Given the description of an element on the screen output the (x, y) to click on. 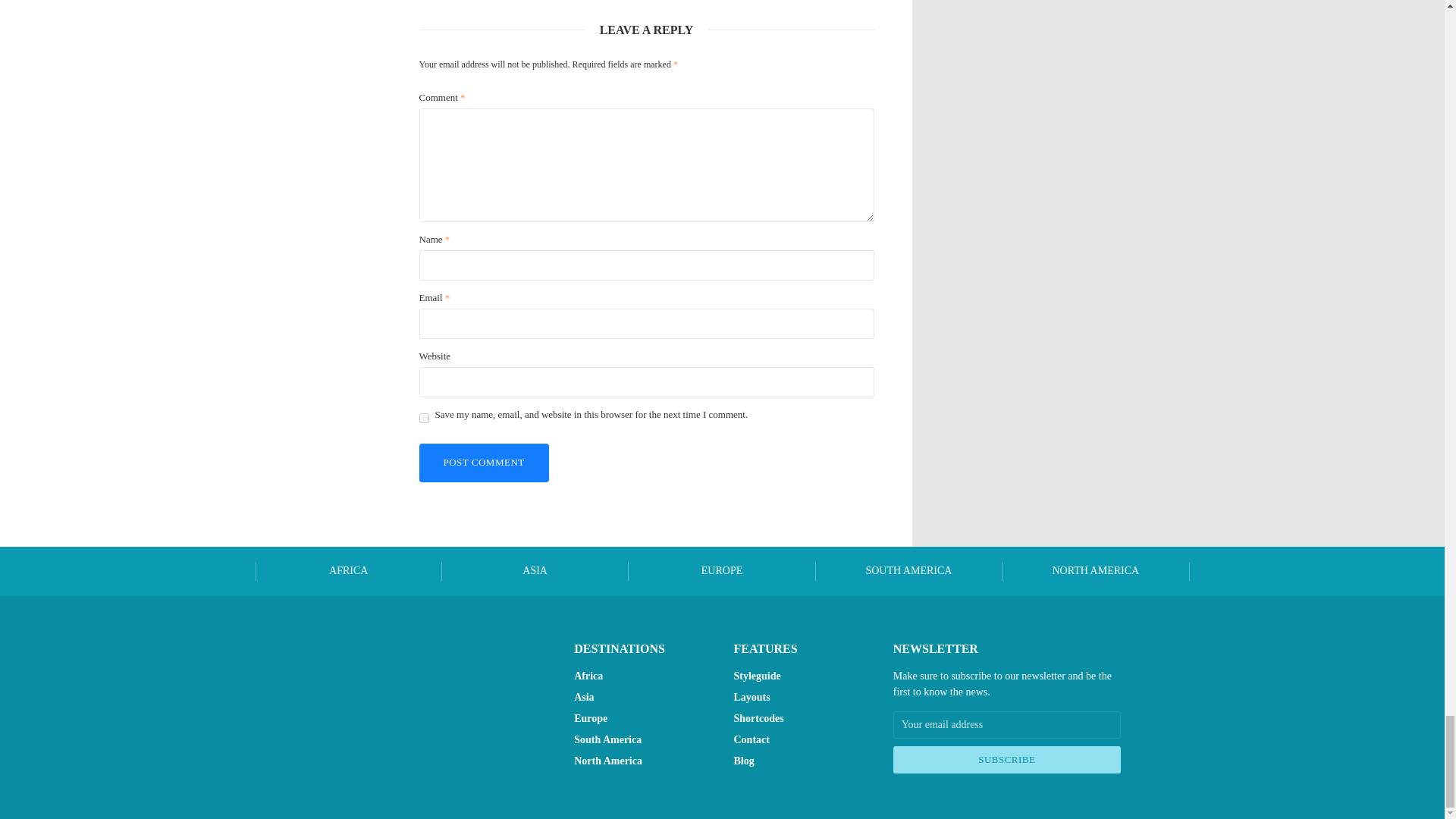
Subscribe (1007, 759)
Post Comment (483, 462)
Post Comment (483, 462)
